Given the description of an element on the screen output the (x, y) to click on. 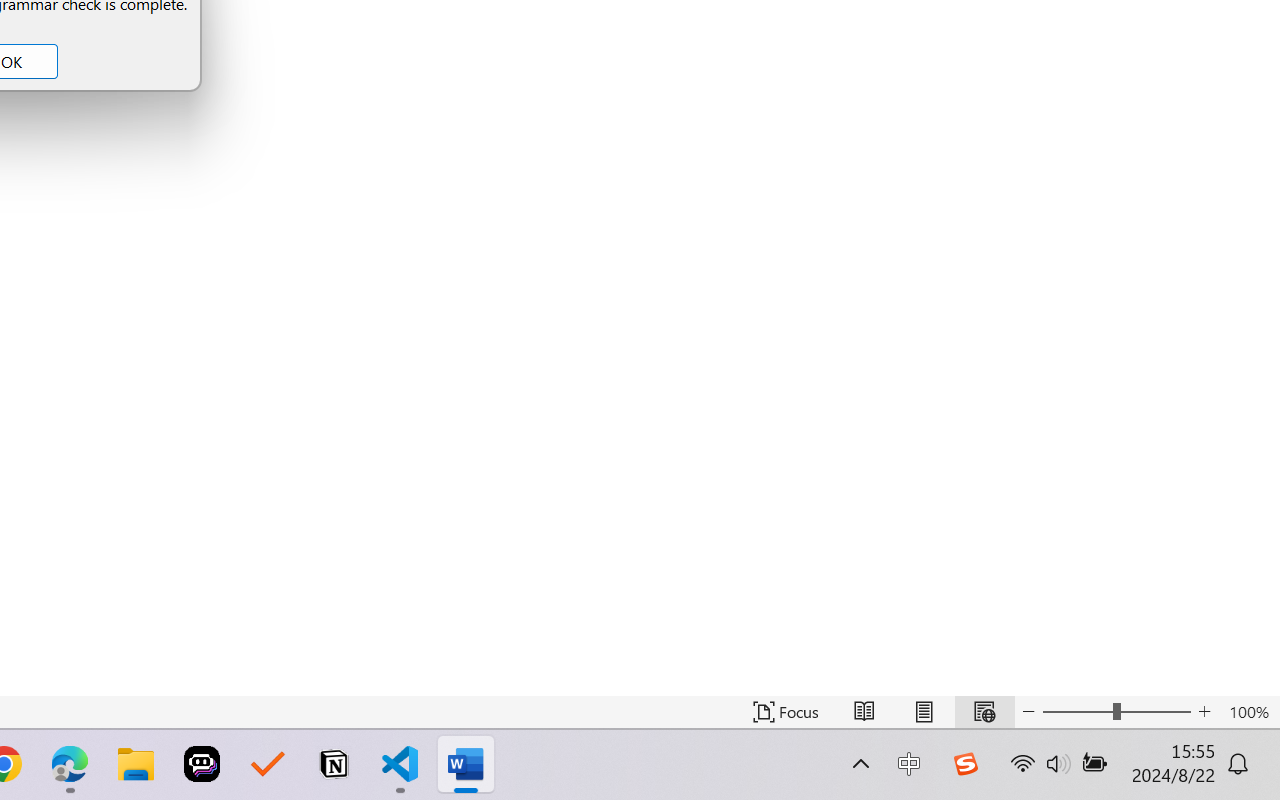
Zoom 100% (1249, 712)
Print Layout (924, 712)
Zoom (1116, 712)
Read Mode (864, 712)
